Given the description of an element on the screen output the (x, y) to click on. 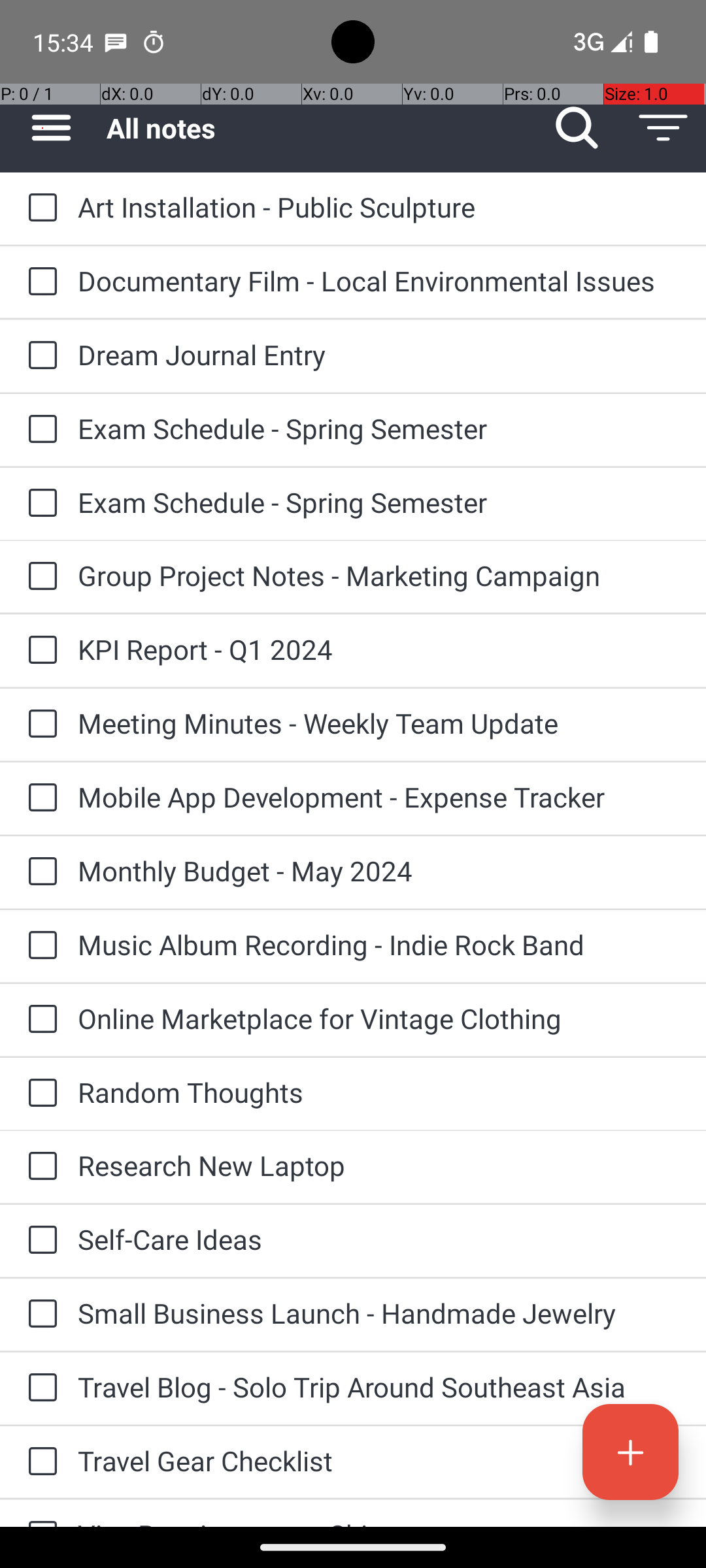
to-do: Art Installation - Public Sculpture Element type: android.widget.CheckBox (38, 208)
Art Installation - Public Sculpture Element type: android.widget.TextView (378, 206)
to-do: Documentary Film - Local Environmental Issues Element type: android.widget.CheckBox (38, 282)
Documentary Film - Local Environmental Issues Element type: android.widget.TextView (378, 280)
to-do: Dream Journal Entry Element type: android.widget.CheckBox (38, 356)
Dream Journal Entry Element type: android.widget.TextView (378, 354)
to-do: Exam Schedule - Spring Semester Element type: android.widget.CheckBox (38, 429)
Exam Schedule - Spring Semester Element type: android.widget.TextView (378, 427)
to-do: KPI Report - Q1 2024 Element type: android.widget.CheckBox (38, 650)
KPI Report - Q1 2024 Element type: android.widget.TextView (378, 648)
to-do: Meeting Minutes - Weekly Team Update Element type: android.widget.CheckBox (38, 724)
Meeting Minutes - Weekly Team Update Element type: android.widget.TextView (378, 722)
to-do: Mobile App Development - Expense Tracker Element type: android.widget.CheckBox (38, 798)
Mobile App Development - Expense Tracker Element type: android.widget.TextView (378, 796)
to-do: Monthly Budget - May 2024 Element type: android.widget.CheckBox (38, 872)
Monthly Budget - May 2024 Element type: android.widget.TextView (378, 870)
to-do: Random Thoughts Element type: android.widget.CheckBox (38, 1093)
Random Thoughts Element type: android.widget.TextView (378, 1091)
to-do: Research New Laptop Element type: android.widget.CheckBox (38, 1166)
Research New Laptop Element type: android.widget.TextView (378, 1164)
to-do: Self-Care Ideas Element type: android.widget.CheckBox (38, 1240)
Self-Care Ideas Element type: android.widget.TextView (378, 1238)
to-do: Small Business Launch - Handmade Jewelry Element type: android.widget.CheckBox (38, 1314)
Small Business Launch - Handmade Jewelry Element type: android.widget.TextView (378, 1312)
to-do: Travel Blog - Solo Trip Around Southeast Asia Element type: android.widget.CheckBox (38, 1388)
Travel Blog - Solo Trip Around Southeast Asia Element type: android.widget.TextView (378, 1386)
to-do: Travel Gear Checklist Element type: android.widget.CheckBox (38, 1462)
Travel Gear Checklist Element type: android.widget.TextView (378, 1460)
to-do: Visa Requirements - China Element type: android.widget.CheckBox (38, 1513)
Visa Requirements - China Element type: android.widget.TextView (378, 1520)
